Given the description of an element on the screen output the (x, y) to click on. 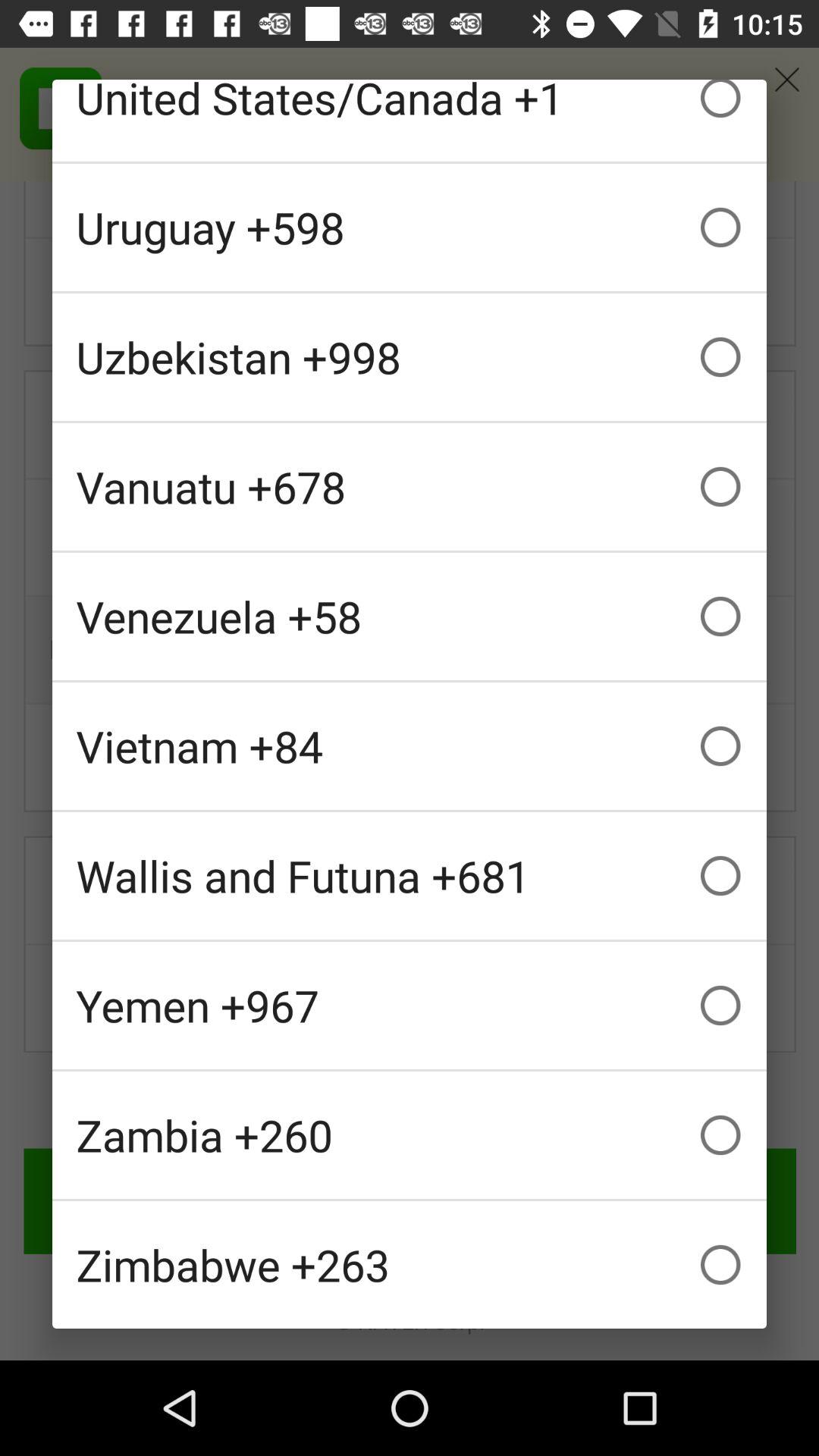
flip to the yemen +967 checkbox (409, 1005)
